Given the description of an element on the screen output the (x, y) to click on. 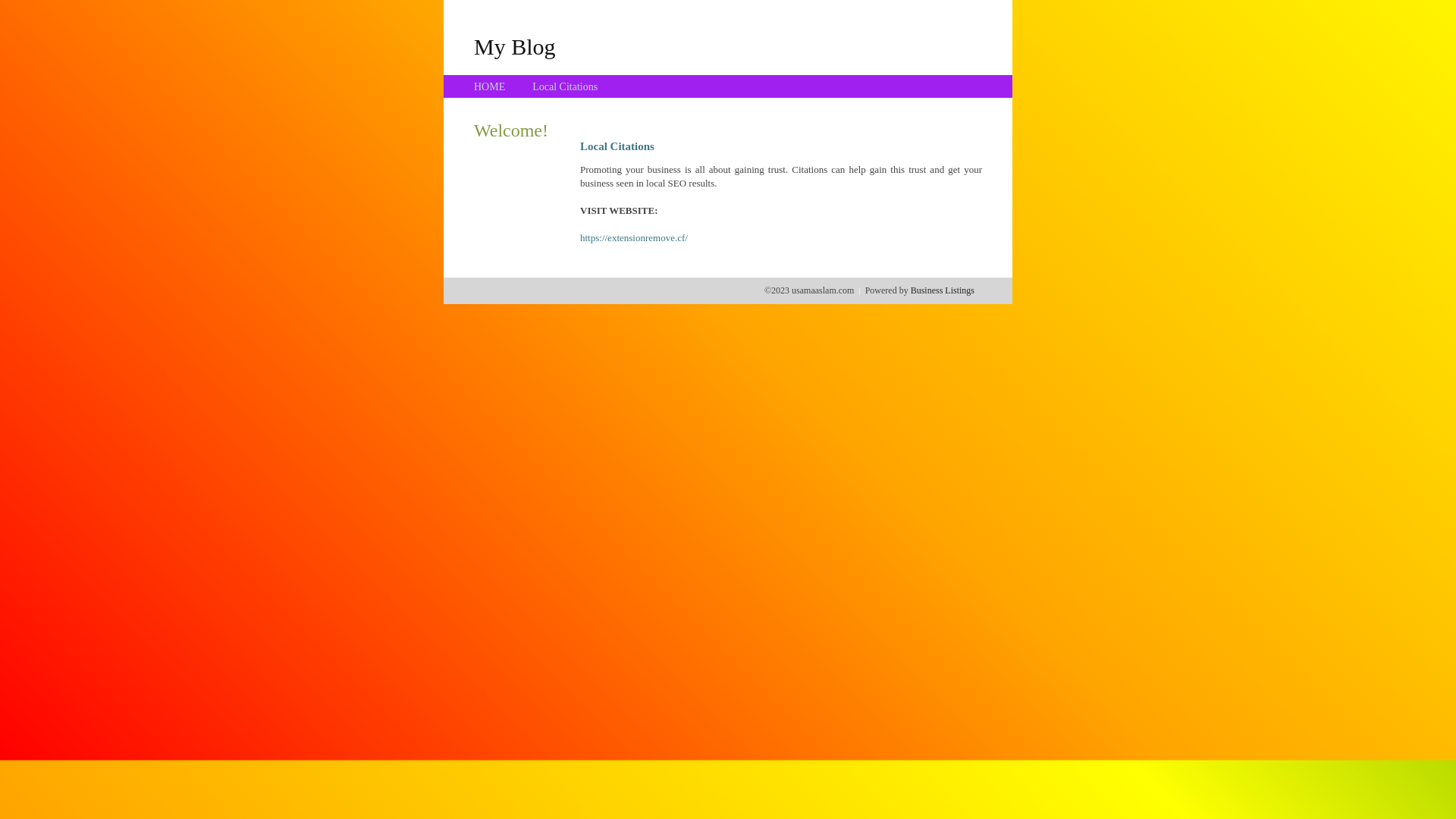
HOME Element type: text (489, 86)
https://extensionremove.cf/ Element type: text (633, 237)
Business Listings Element type: text (942, 290)
My Blog Element type: text (514, 46)
Local Citations Element type: text (564, 86)
